Given the description of an element on the screen output the (x, y) to click on. 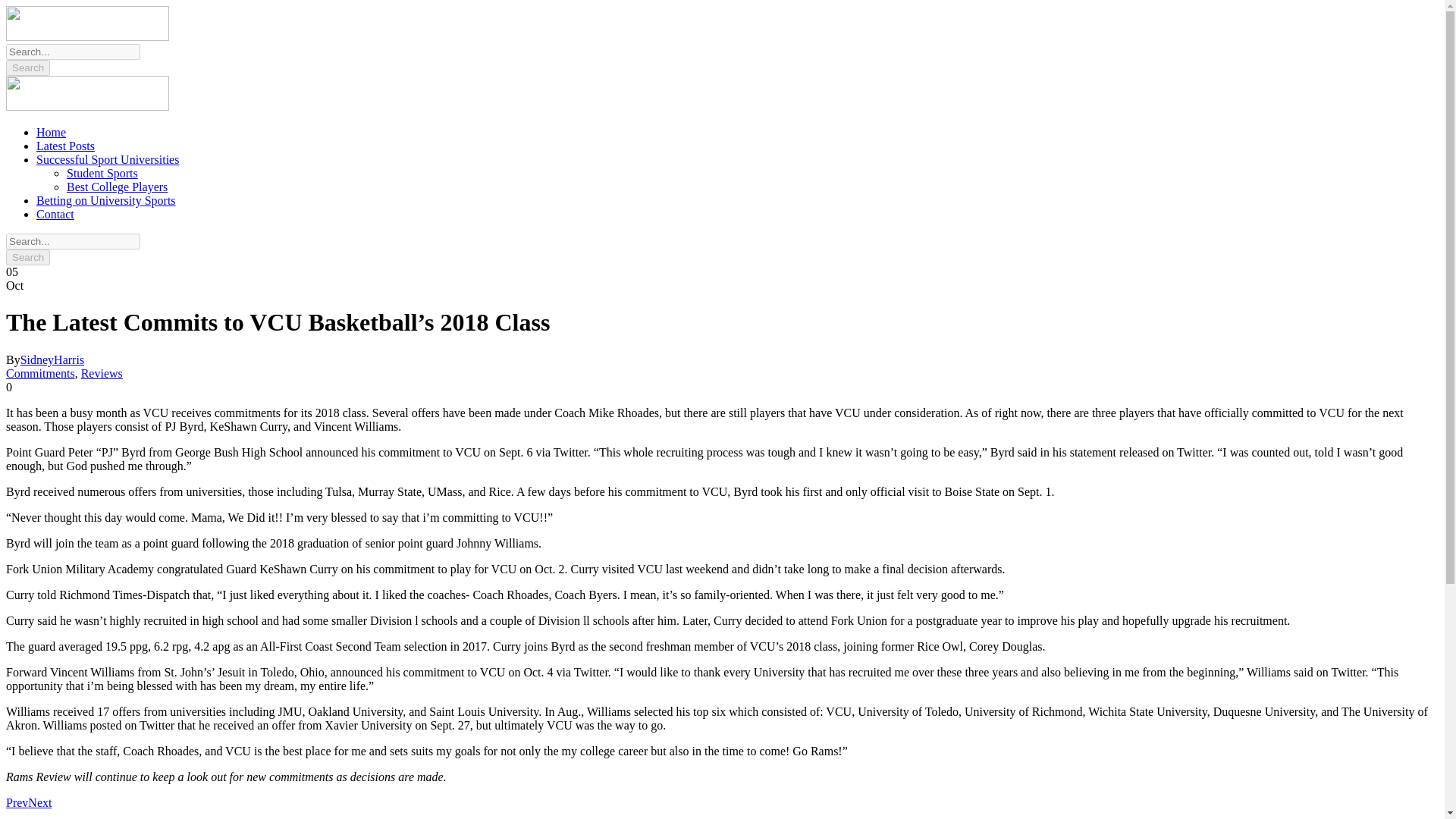
Commitments (40, 373)
Search (27, 67)
Posts by SidneyHarris (52, 359)
Search (27, 67)
Search (27, 257)
Successful Sport Universities (107, 159)
Prev (16, 802)
Search (27, 257)
SidneyHarris (52, 359)
ramsbanner23 (86, 93)
